Given the description of an element on the screen output the (x, y) to click on. 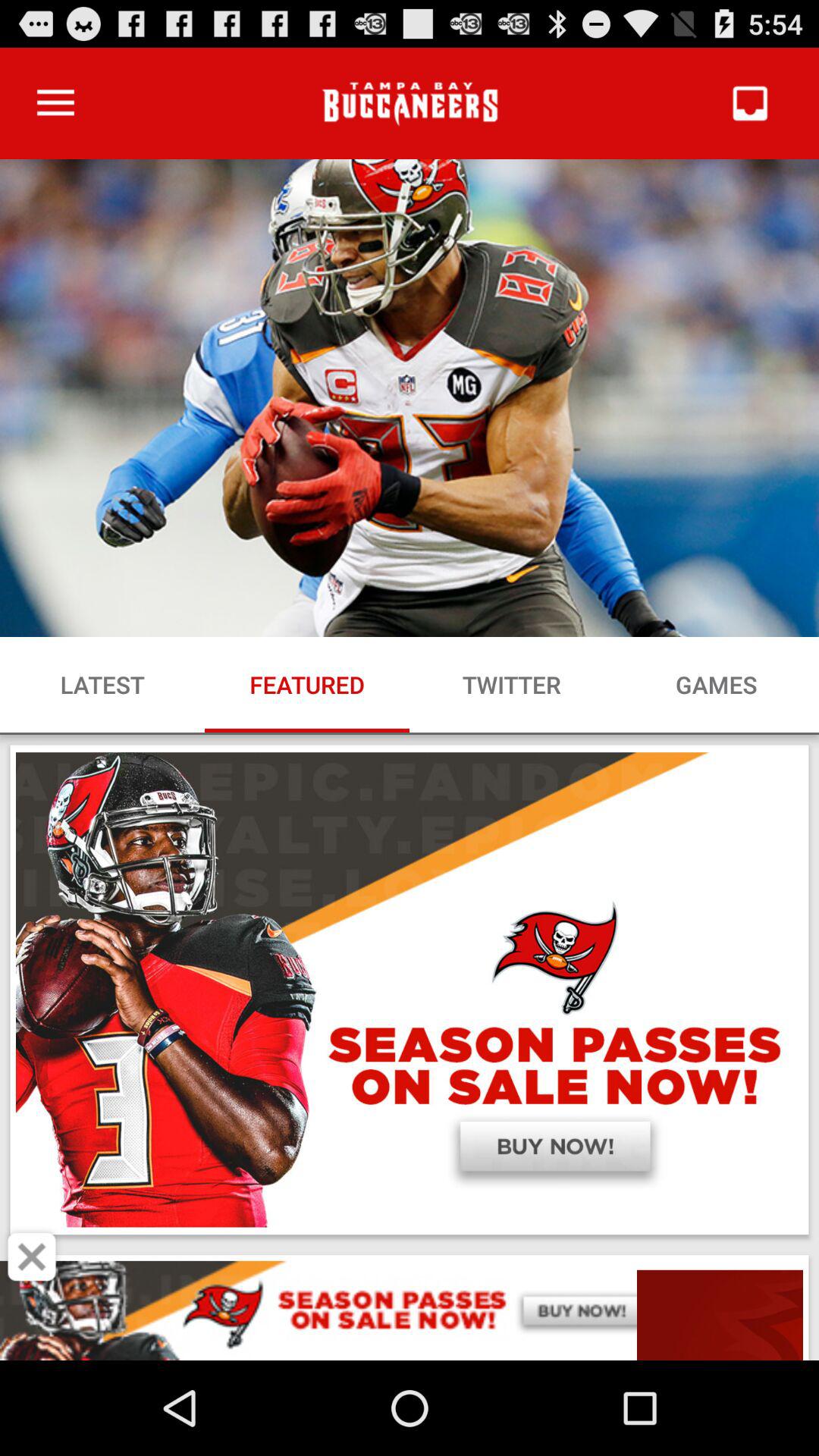
close image button (31, 1256)
